Given the description of an element on the screen output the (x, y) to click on. 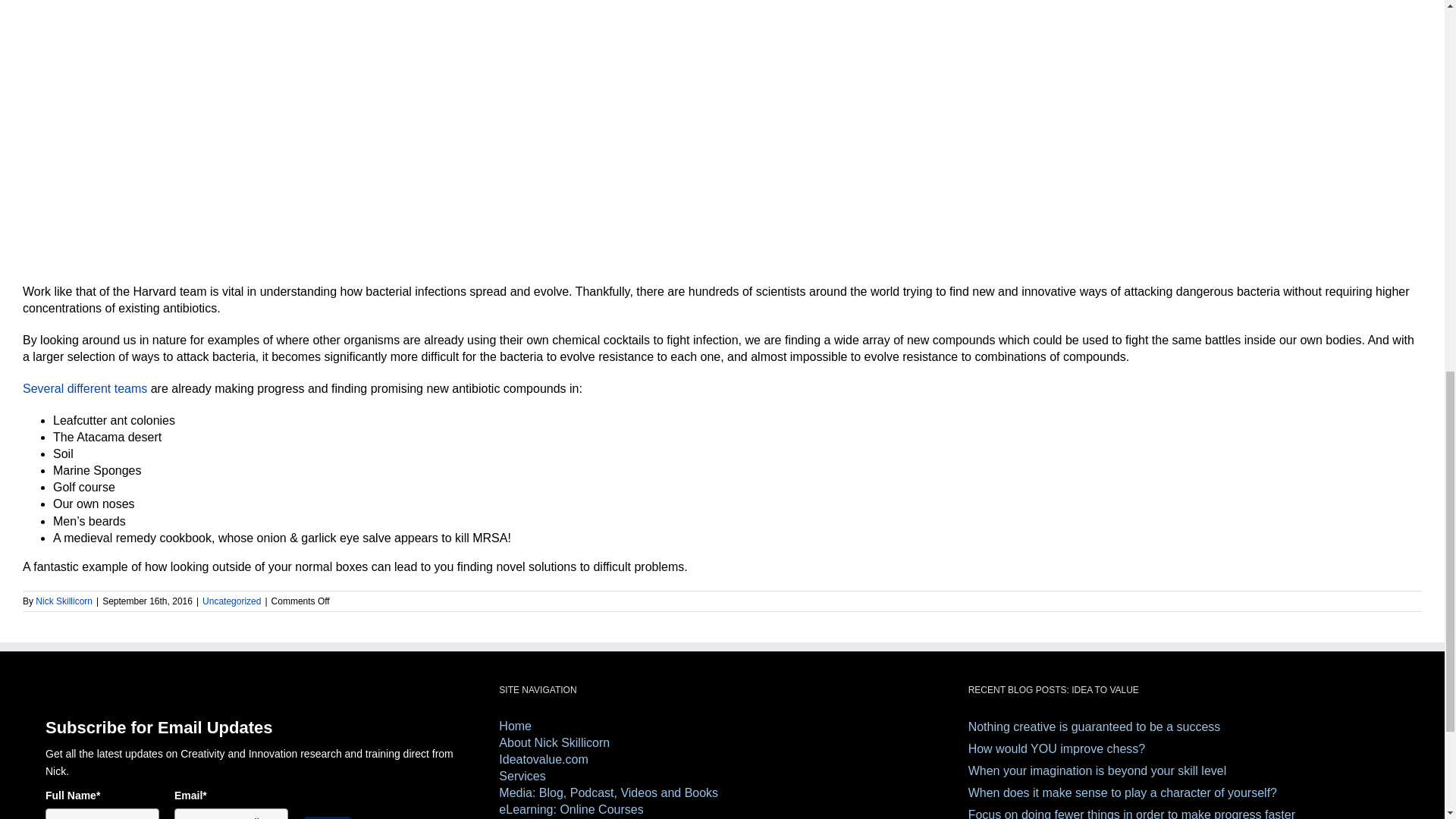
teams (131, 388)
eLearning (721, 809)
Media: Blog, Podcast, Videos and Books (721, 792)
About Nick Skillicorn (721, 742)
Home (721, 726)
eLearning: Online Courses (721, 809)
Several (43, 388)
Nick Skillicorn (63, 601)
Home (721, 726)
Uncategorized (231, 601)
different (89, 388)
Idea to value (721, 759)
Posts by Nick Skillicorn (63, 601)
About Nick Skillicorn (721, 742)
Media: Blog, Podcast, Videos and Books (721, 792)
